Given the description of an element on the screen output the (x, y) to click on. 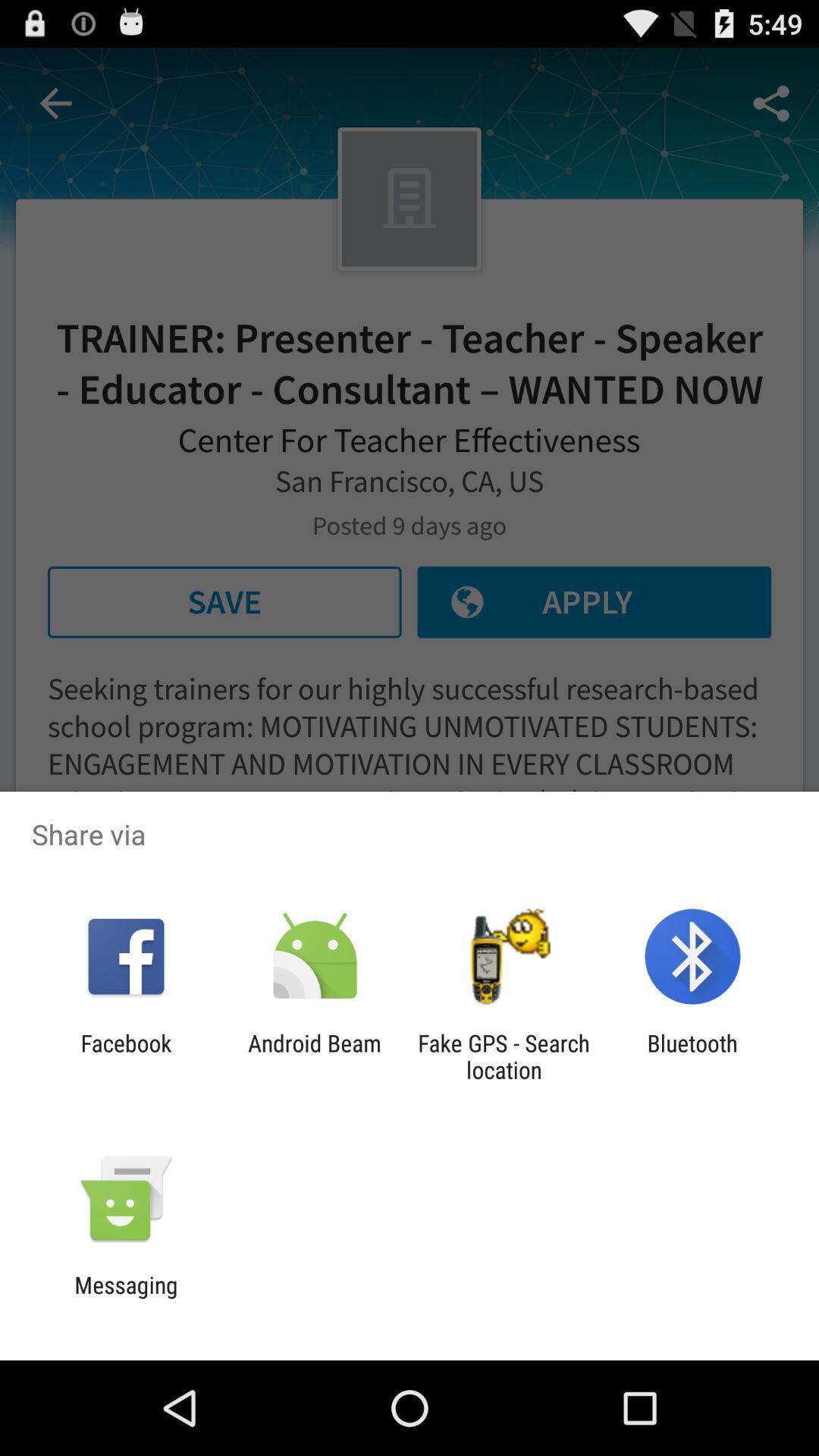
press the item to the right of android beam (503, 1056)
